Given the description of an element on the screen output the (x, y) to click on. 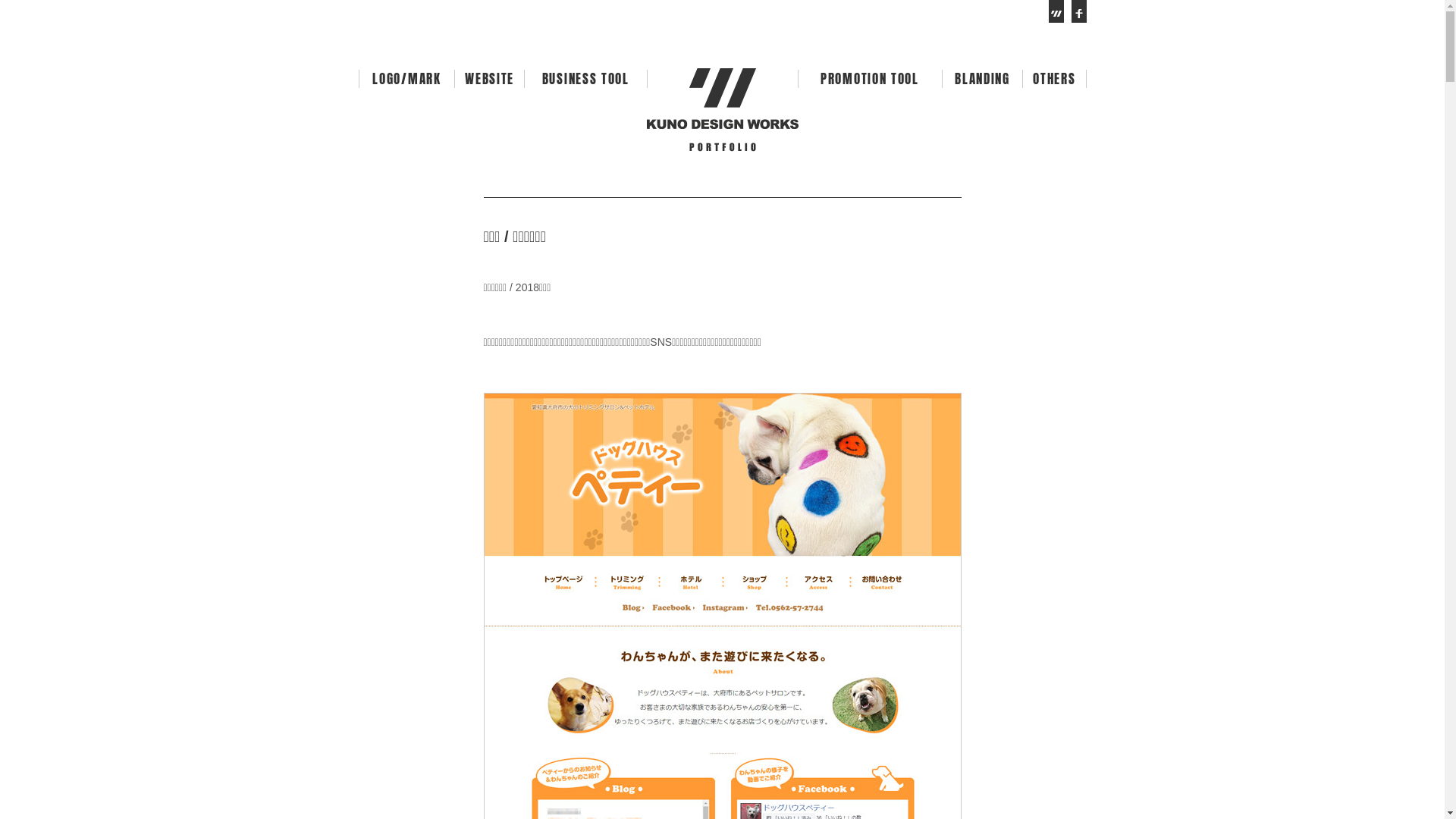
BLANDING Element type: text (981, 78)
PROMOTION TOOL Element type: text (869, 78)
LOGO/MARK Element type: text (407, 78)
BUSINESS TOOL Element type: text (585, 78)
WEBSITE Element type: text (489, 78)
OTHERS Element type: text (1053, 78)
